Given the description of an element on the screen output the (x, y) to click on. 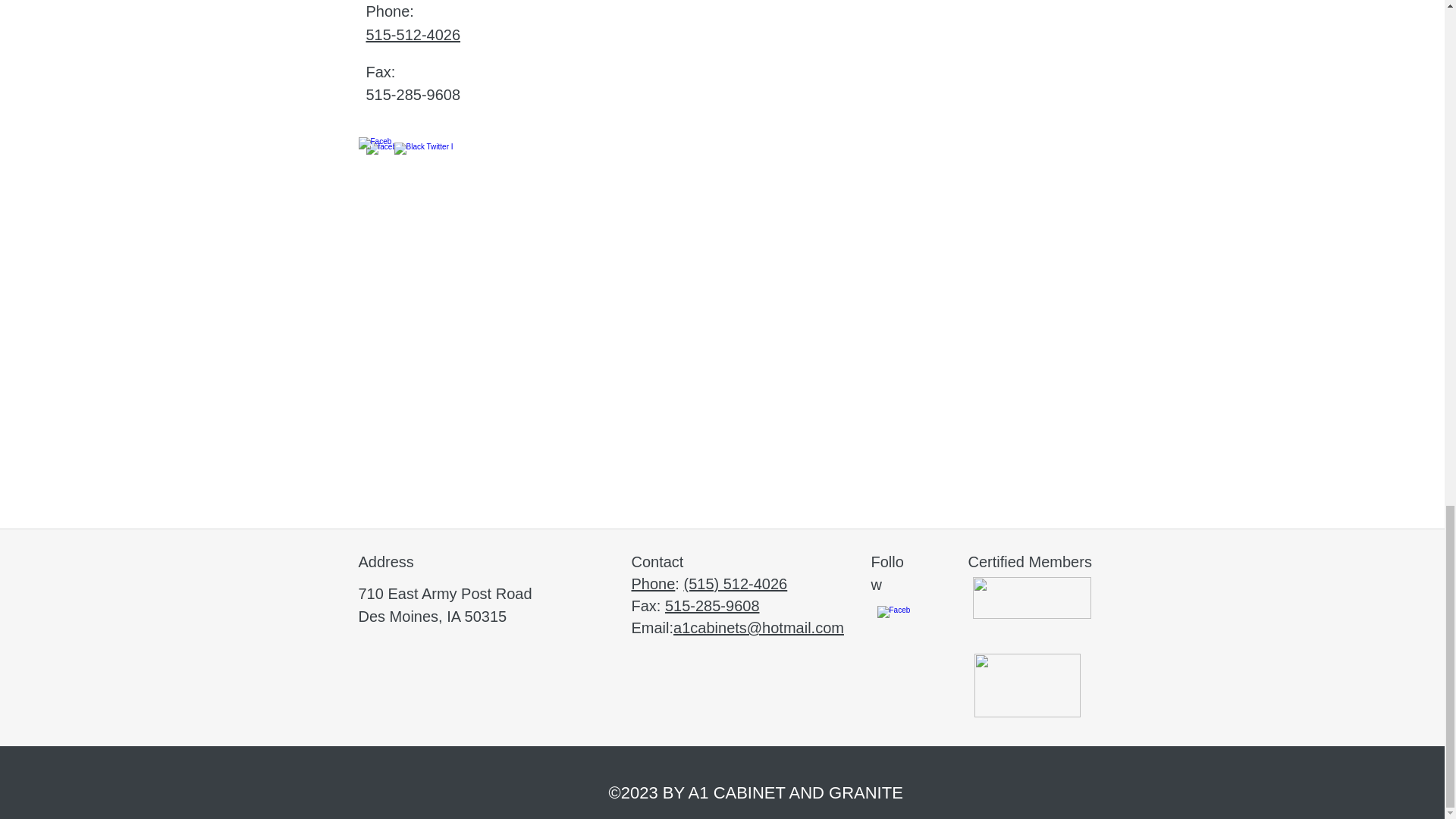
Phone (652, 583)
515-285-9608 (712, 605)
515-512-4026 (412, 34)
